Given the description of an element on the screen output the (x, y) to click on. 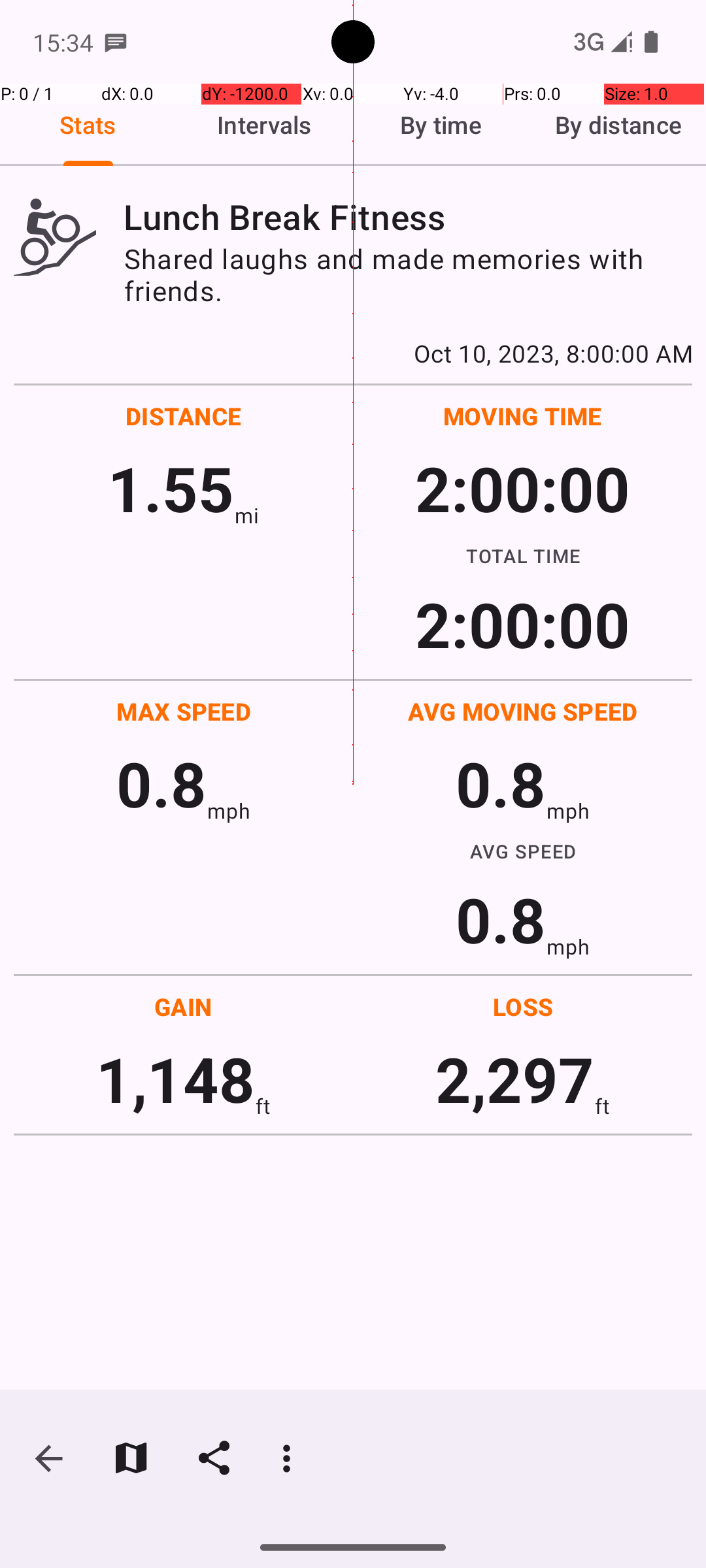
Stats Element type: android.widget.LinearLayout (88, 124)
Intervals Element type: android.widget.LinearLayout (264, 124)
By time Element type: android.widget.LinearLayout (441, 124)
By distance Element type: android.widget.LinearLayout (617, 124)
Show on map Element type: android.widget.Button (130, 1458)
Lunch Break Fitness Element type: android.widget.TextView (407, 216)
Shared laughs and made memories with friends. Element type: android.widget.TextView (407, 274)
Oct 10, 2023, 8:00:00 AM Element type: android.widget.TextView (352, 352)
DISTANCE Element type: android.widget.TextView (183, 415)
MOVING TIME Element type: android.widget.TextView (522, 415)
1.55 Element type: android.widget.TextView (170, 487)
mi Element type: android.widget.TextView (246, 515)
2:00:00 Element type: android.widget.TextView (522, 487)
TOTAL TIME Element type: android.widget.TextView (522, 555)
MAX SPEED Element type: android.widget.TextView (183, 710)
AVG MOVING SPEED Element type: android.widget.TextView (522, 710)
0.8 Element type: android.widget.TextView (161, 782)
mph Element type: android.widget.TextView (228, 810)
AVG SPEED Element type: android.widget.TextView (522, 850)
GAIN Element type: android.widget.TextView (183, 1006)
LOSS Element type: android.widget.TextView (522, 1006)
1,148 Element type: android.widget.TextView (175, 1077)
ft Element type: android.widget.TextView (262, 1105)
2,297 Element type: android.widget.TextView (514, 1077)
